Given the description of an element on the screen output the (x, y) to click on. 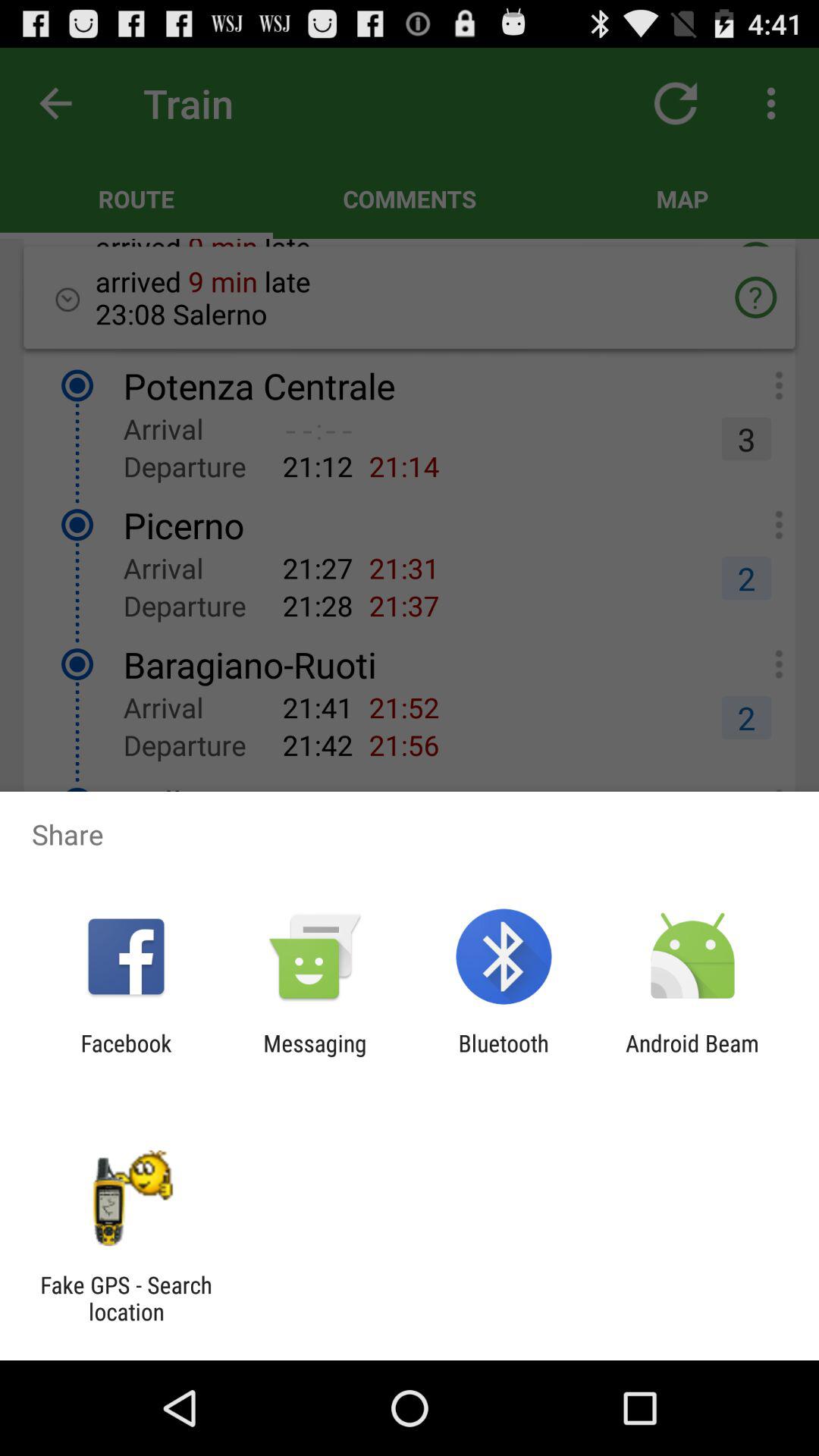
turn off the icon next to the messaging (503, 1056)
